Given the description of an element on the screen output the (x, y) to click on. 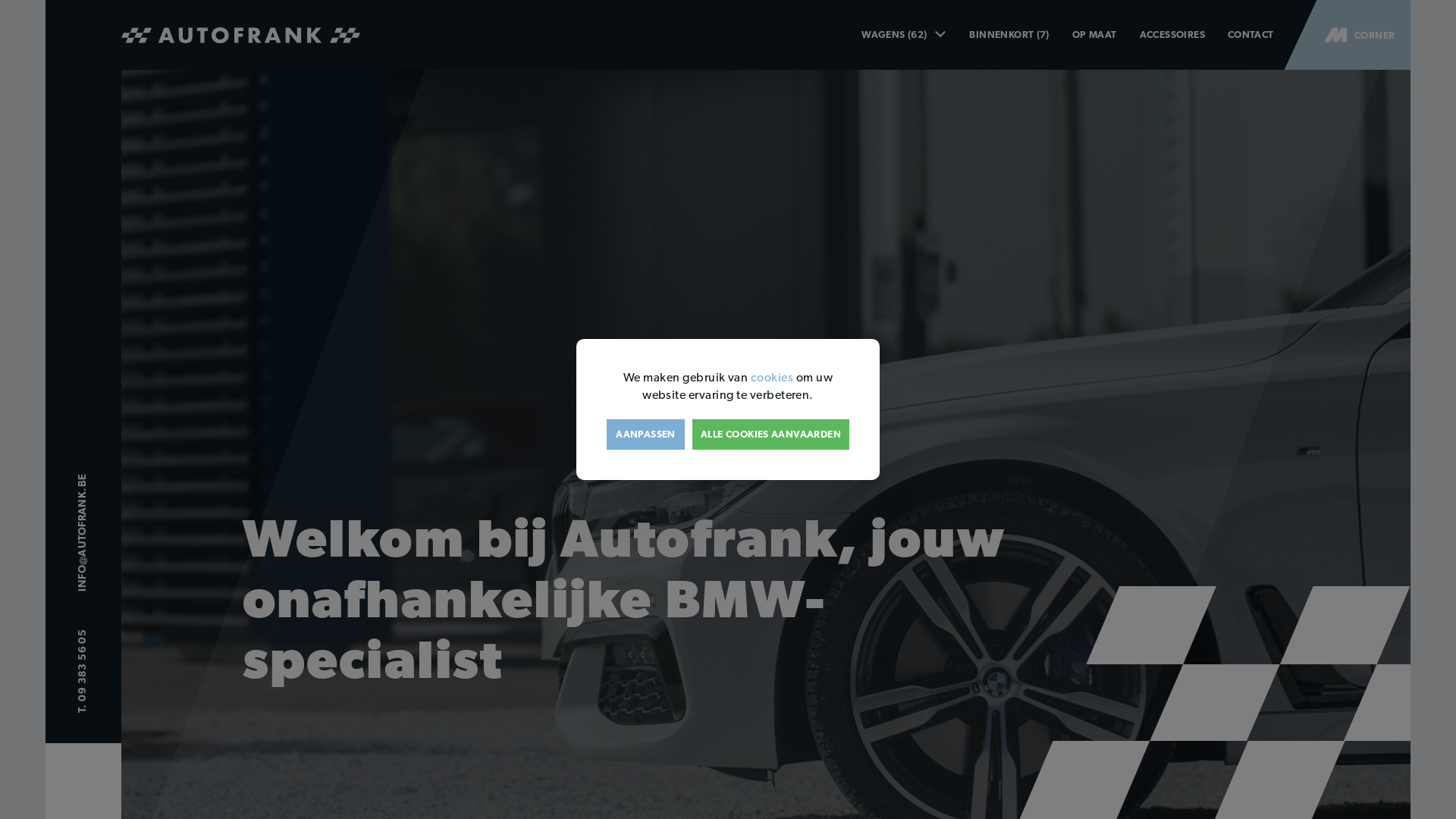
BINNENKORT (7) Element type: text (1008, 34)
OP MAAT Element type: text (1094, 34)
ALLE COOKIES AANVAARDEN Element type: text (770, 434)
AANPASSEN Element type: text (645, 434)
CORNER
M-CORNER Element type: text (1330, 34)
WAGENS (62) Element type: text (903, 34)
cookies Element type: text (771, 377)
CONTACT Element type: text (1250, 34)
INFO@AUTOFRANK.BE Element type: text (122, 492)
T. 09 383 56 05 Element type: text (105, 647)
ACCESSOIRES Element type: text (1172, 34)
